Given the description of an element on the screen output the (x, y) to click on. 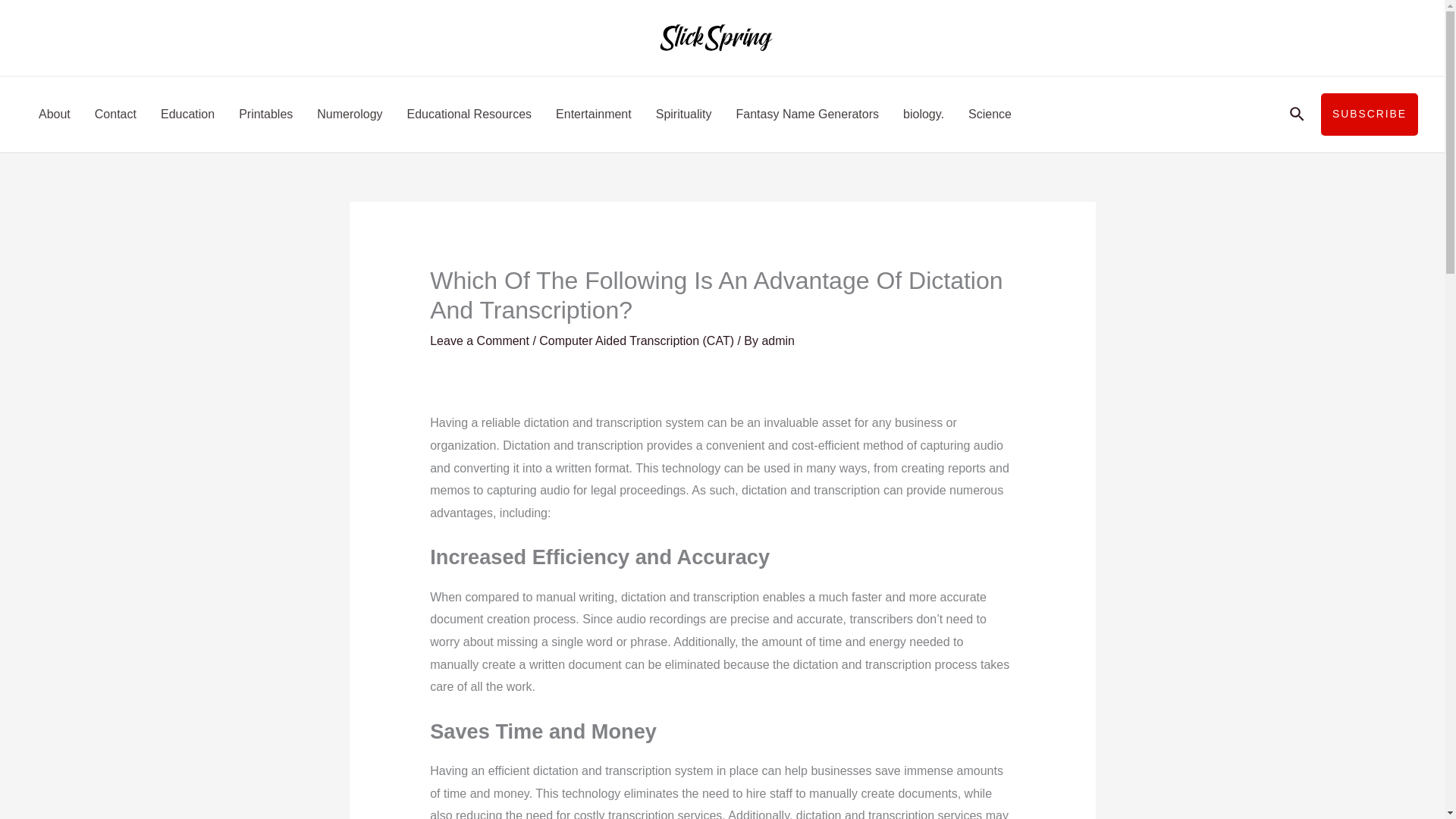
Leave a Comment (479, 340)
SUBSCRIBE (1369, 114)
Science (989, 114)
View all posts by admin (777, 340)
Entertainment (593, 114)
Spirituality (683, 114)
Fantasy Name Generators (807, 114)
Educational Resources (469, 114)
Printables (265, 114)
Numerology (349, 114)
admin (777, 340)
Education (187, 114)
